Given the description of an element on the screen output the (x, y) to click on. 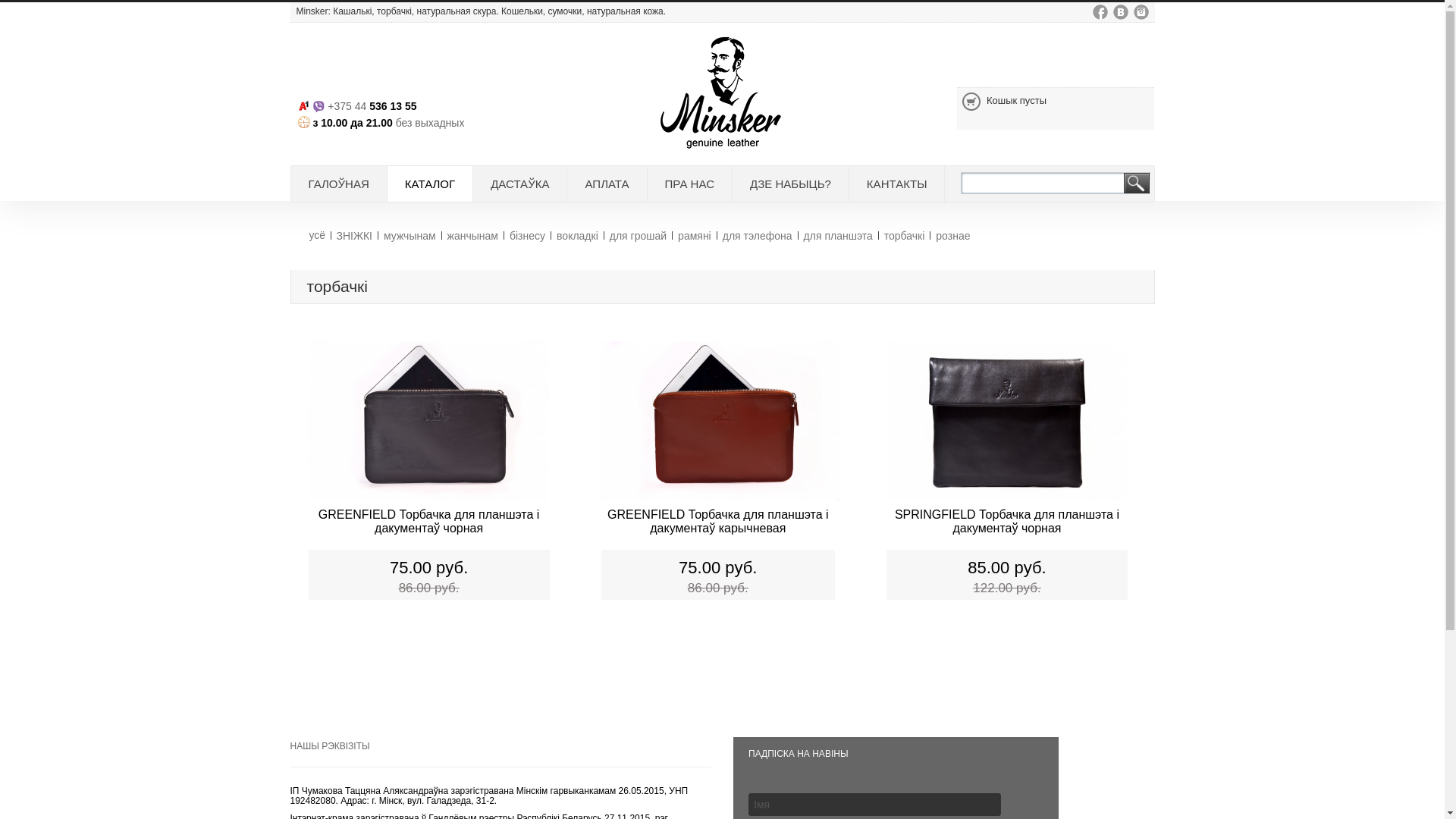
/katalog/bags/springfield-black.php Element type: hover (1006, 423)
/katalog/bags/greenfield-black.php Element type: hover (428, 423)
/katalog/bags/greenfield-brown.php Element type: hover (720, 423)
